Given the description of an element on the screen output the (x, y) to click on. 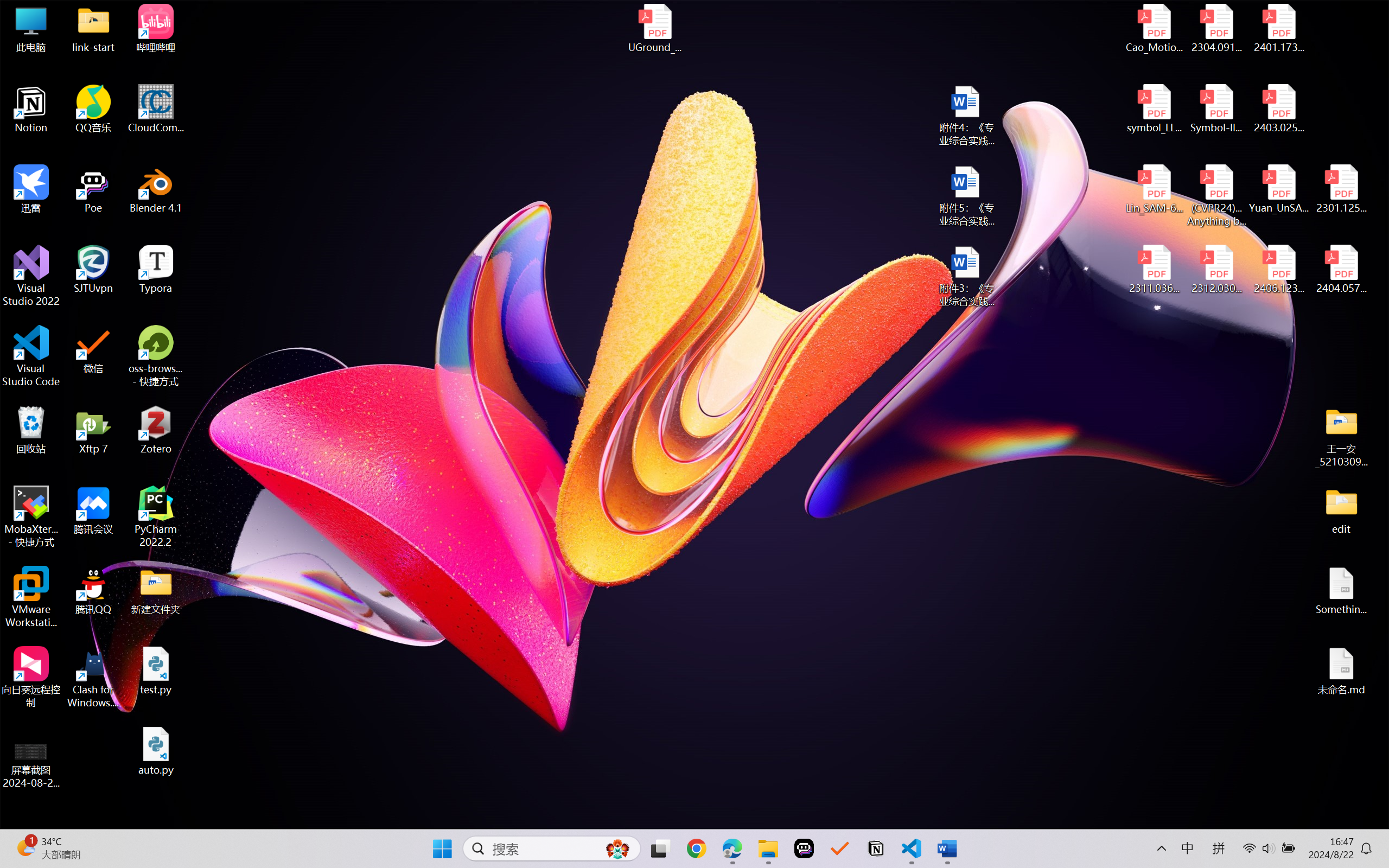
Typora (156, 269)
2404.05719v1.pdf (1340, 269)
UGround_paper.pdf (654, 28)
auto.py (156, 751)
2312.03032v2.pdf (1216, 269)
Symbol-llm-v2.pdf (1216, 109)
2301.12597v3.pdf (1340, 189)
